Given the description of an element on the screen output the (x, y) to click on. 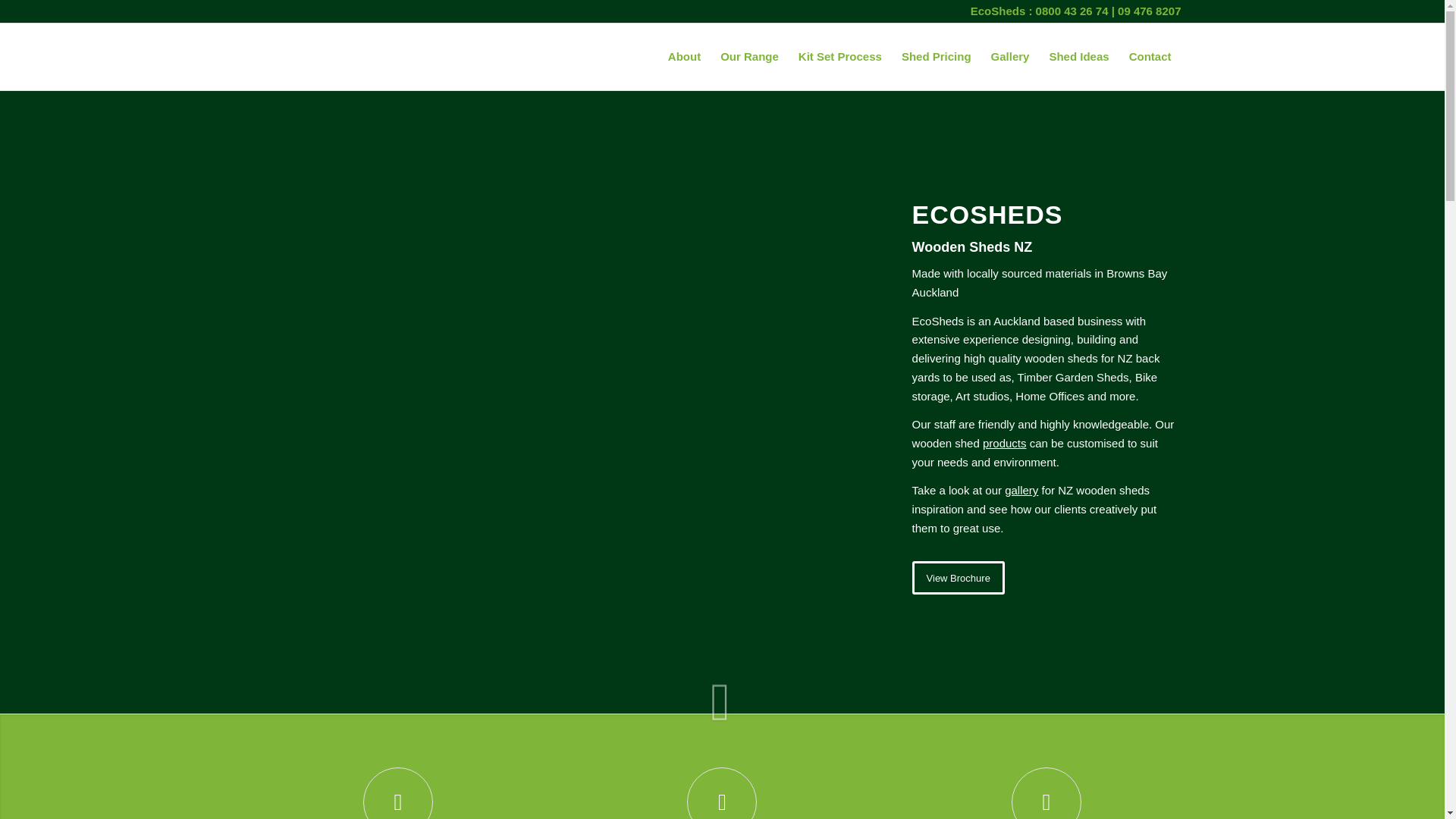
garden-shed-ideas (1078, 56)
Shed Pricing (936, 56)
Our Range (749, 56)
Garden Shed Prices NZ (936, 56)
gallery (1021, 490)
Contact (1149, 56)
Shed Prices NZ (749, 56)
Kit Set Process (840, 56)
View Brochure (958, 577)
products (1004, 442)
The wooden shed kit set build process (840, 56)
Shed Ideas (1078, 56)
header-logo (295, 56)
